Given the description of an element on the screen output the (x, y) to click on. 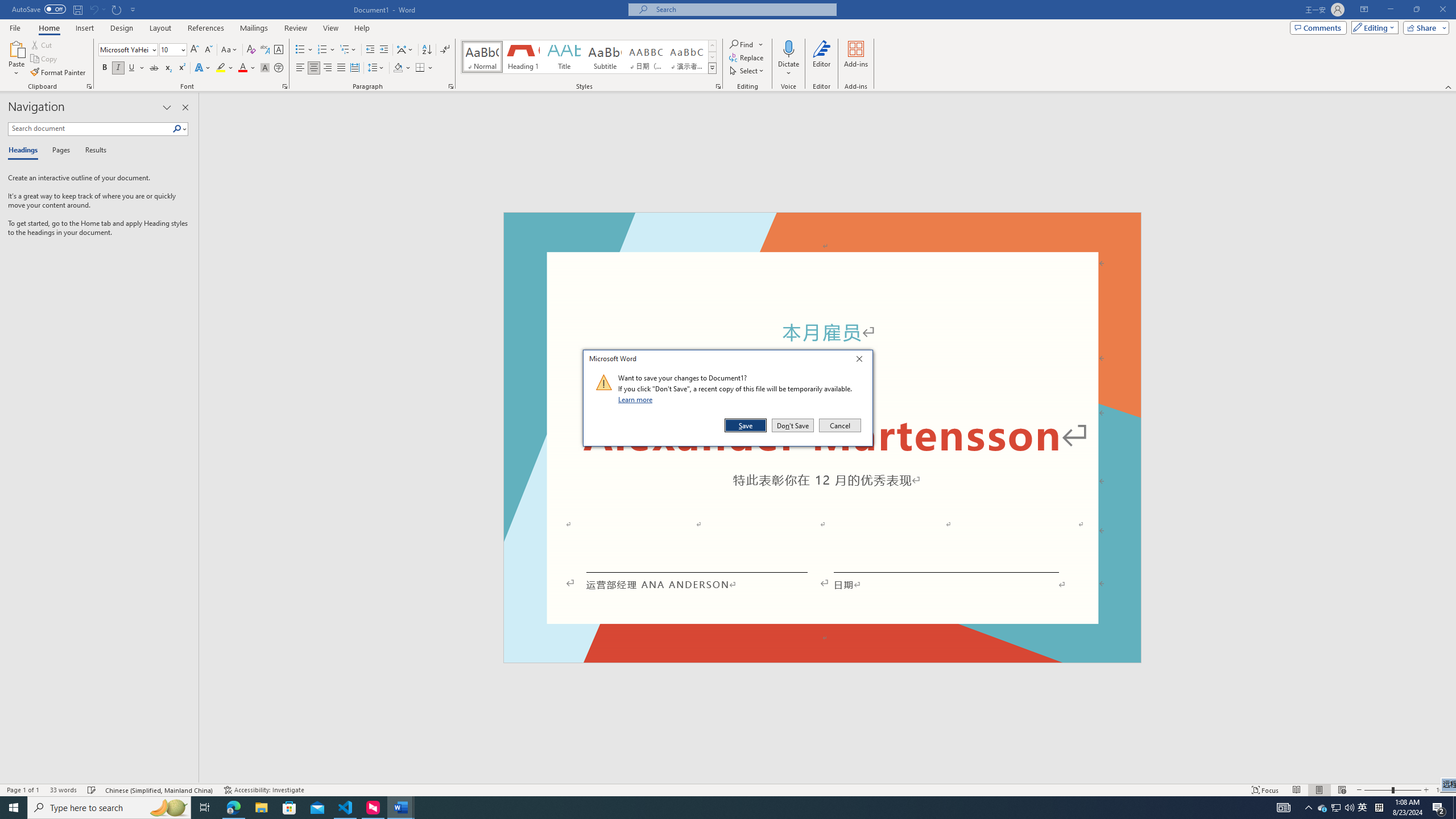
Microsoft Edge - 1 running window (233, 807)
Show/Hide Editing Marks (1362, 807)
Cut (444, 49)
Multilevel List (42, 44)
Start (347, 49)
Class: NetUIScrollBar (13, 807)
Increase Indent (1450, 437)
